Given the description of an element on the screen output the (x, y) to click on. 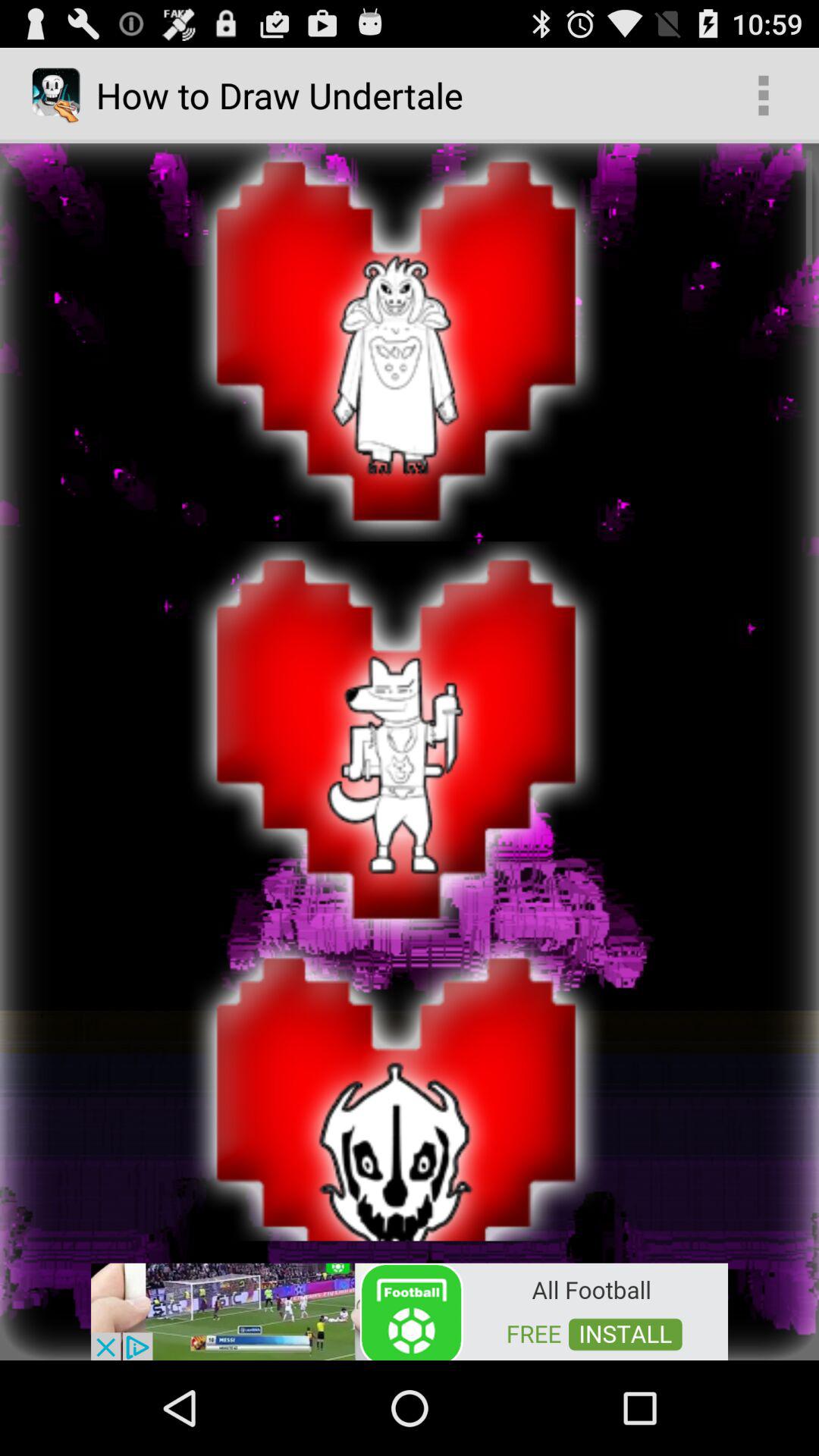
add the option (409, 1310)
